Given the description of an element on the screen output the (x, y) to click on. 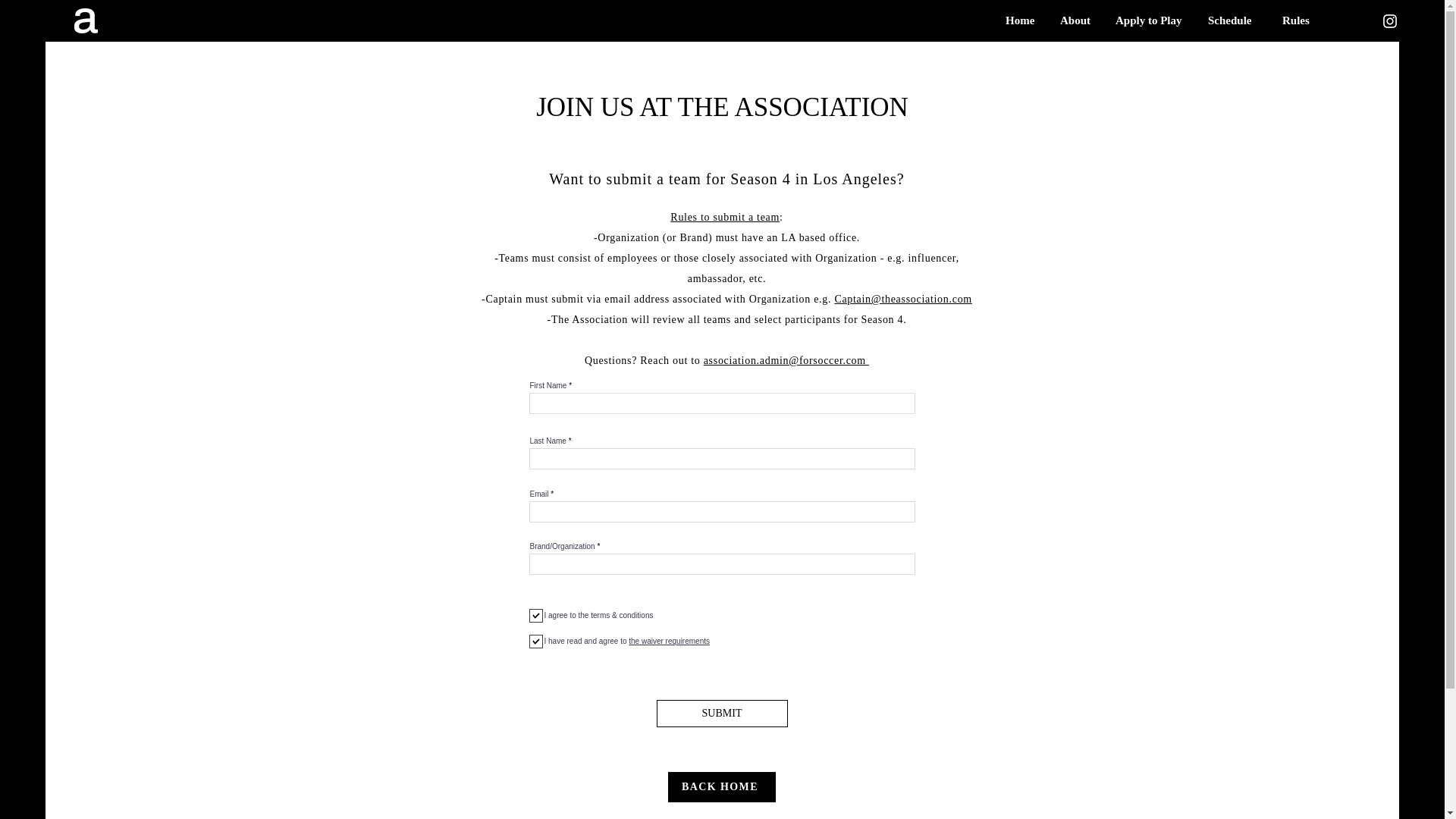
Home (1021, 20)
Apply to Play (1149, 20)
Rules (1297, 20)
About (1075, 20)
Schedule (1233, 20)
the waiver requirements (668, 641)
SUBMIT (721, 713)
BACK HOME (720, 787)
